Given the description of an element on the screen output the (x, y) to click on. 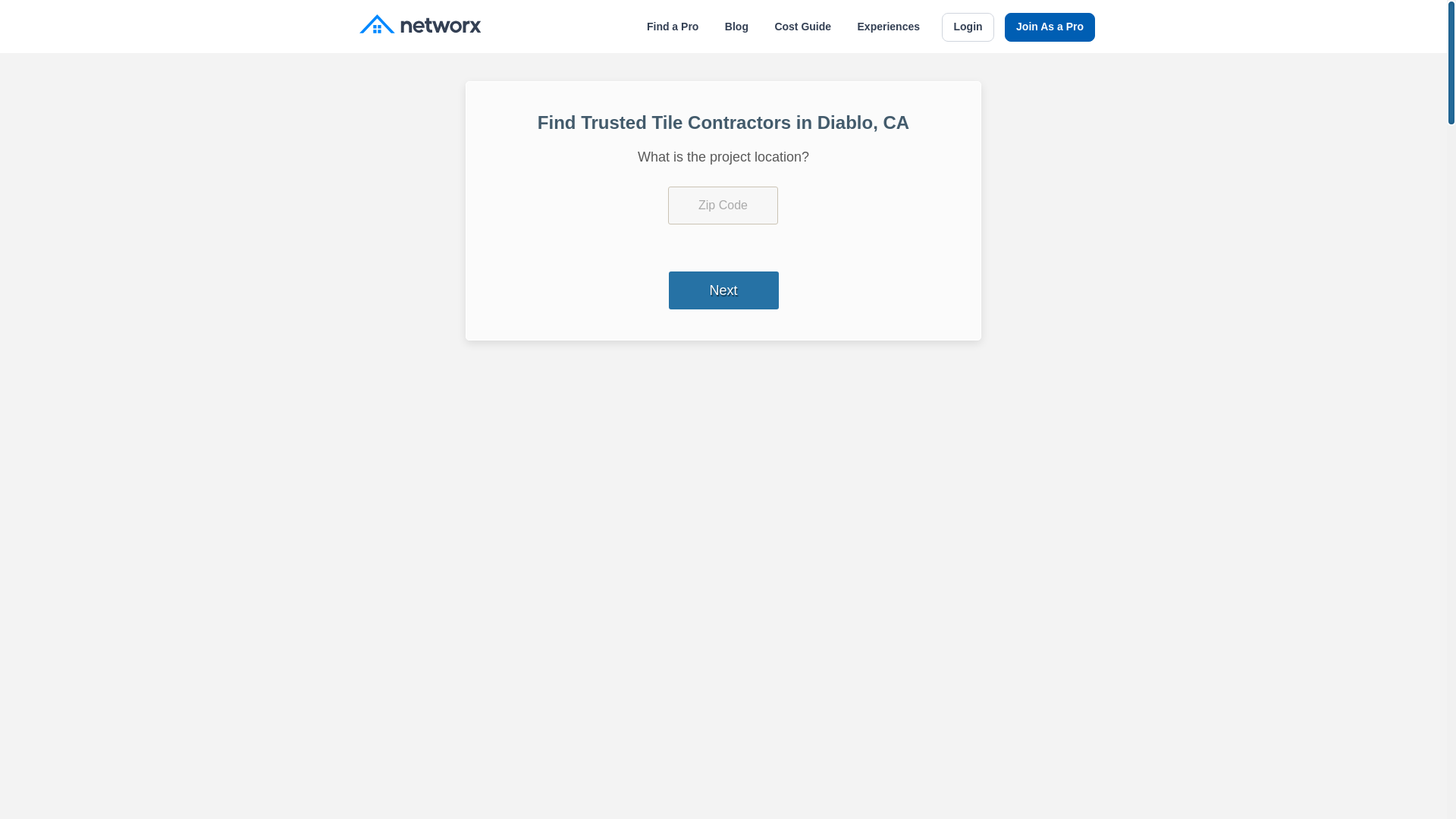
Networx (419, 25)
Cost Guide (802, 26)
Experiences (888, 26)
Please enter a valid zip code (722, 205)
Join As a Pro (1049, 27)
Next (723, 290)
Find a Pro (672, 26)
Login (967, 27)
